Given the description of an element on the screen output the (x, y) to click on. 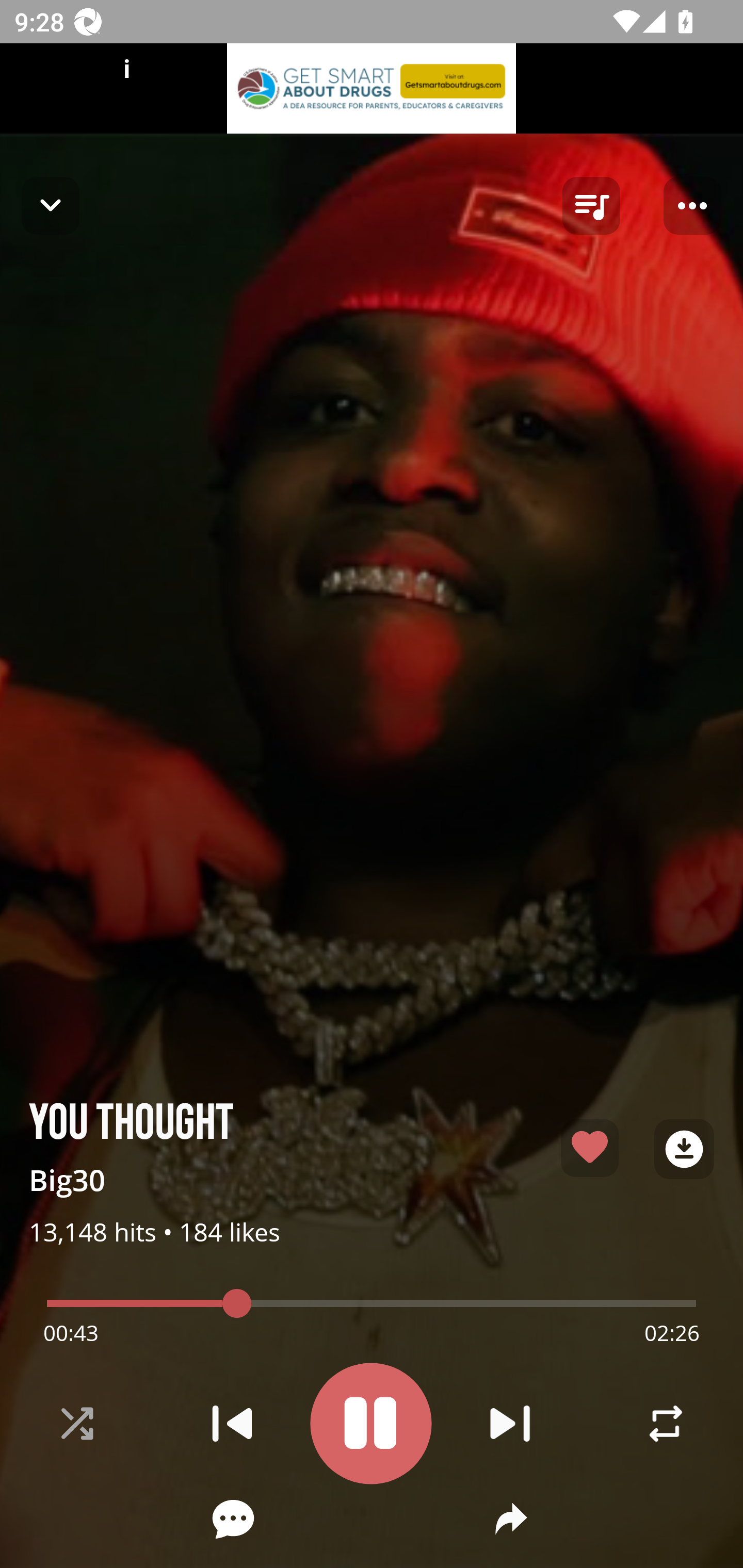
Navigate up (50, 205)
queue (590, 206)
Player options (692, 206)
